Given the description of an element on the screen output the (x, y) to click on. 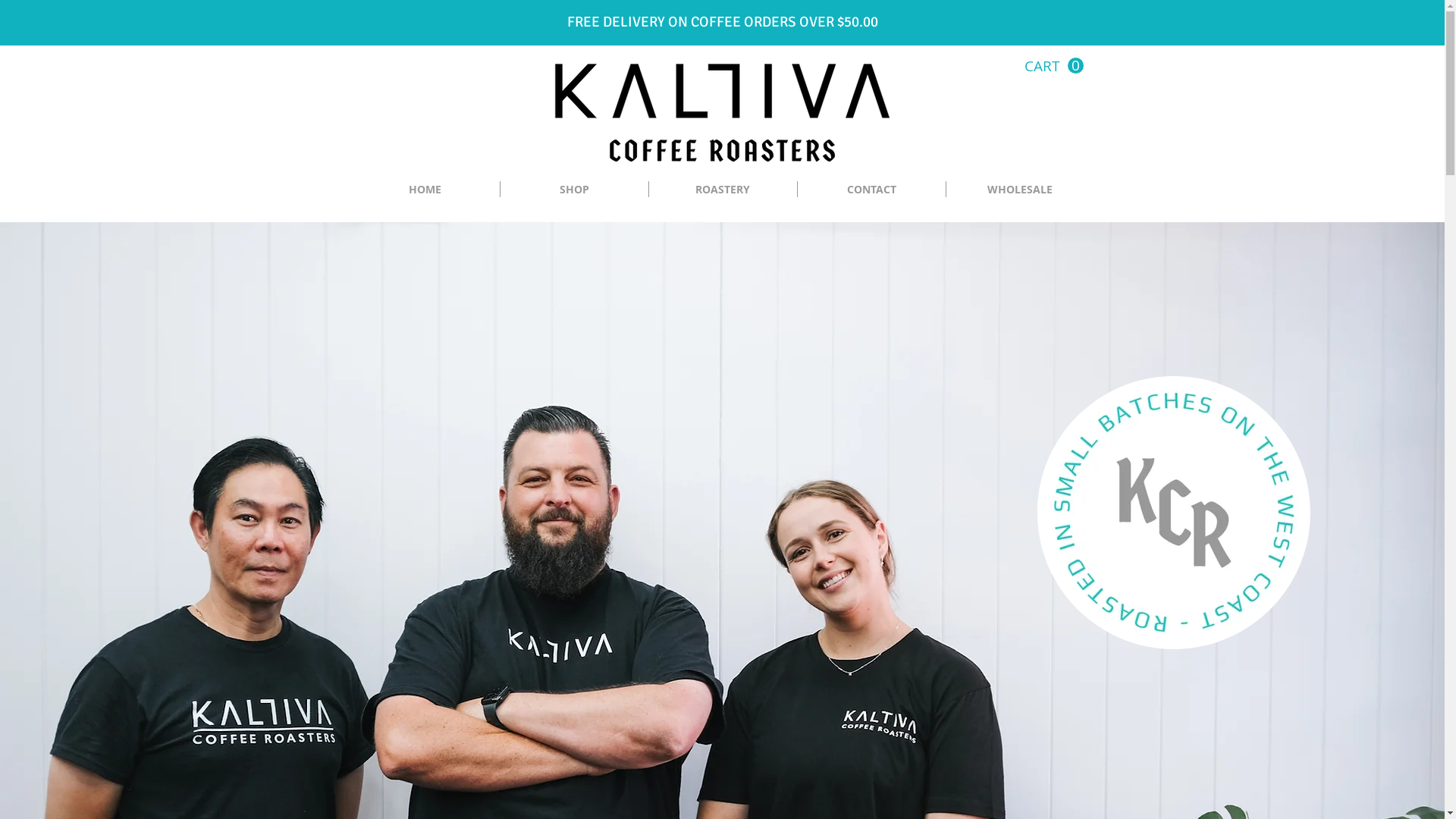
SHOP Element type: text (574, 189)
ROASTERY Element type: text (723, 189)
HOME Element type: text (424, 189)
WHOLESALE Element type: text (1020, 189)
0
CART Element type: text (1052, 65)
CONTACT Element type: text (871, 189)
